Given the description of an element on the screen output the (x, y) to click on. 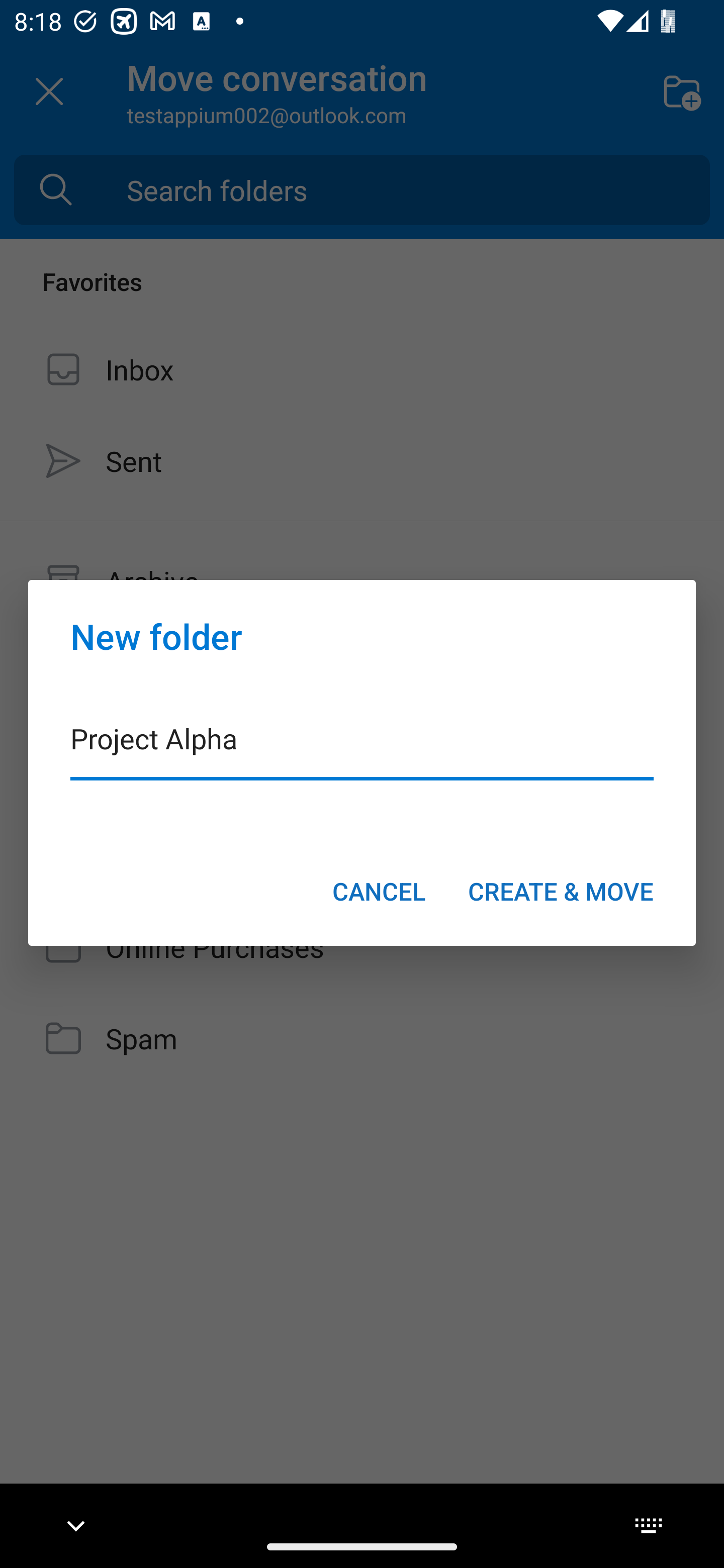
Project Alpha (361, 750)
CANCEL (378, 891)
CREATE & MOVE (560, 891)
